Given the description of an element on the screen output the (x, y) to click on. 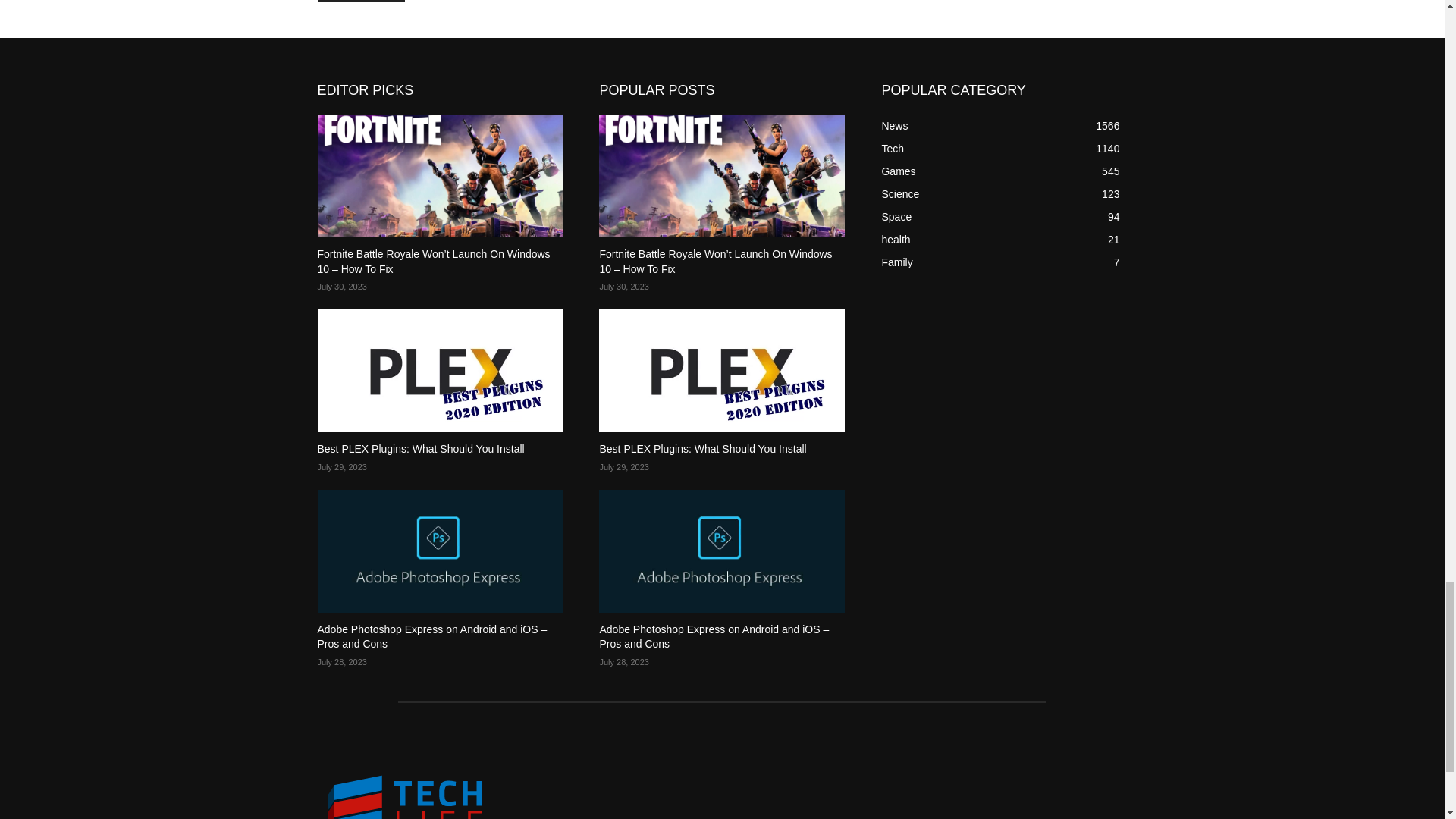
Post Comment (360, 0)
